Given the description of an element on the screen output the (x, y) to click on. 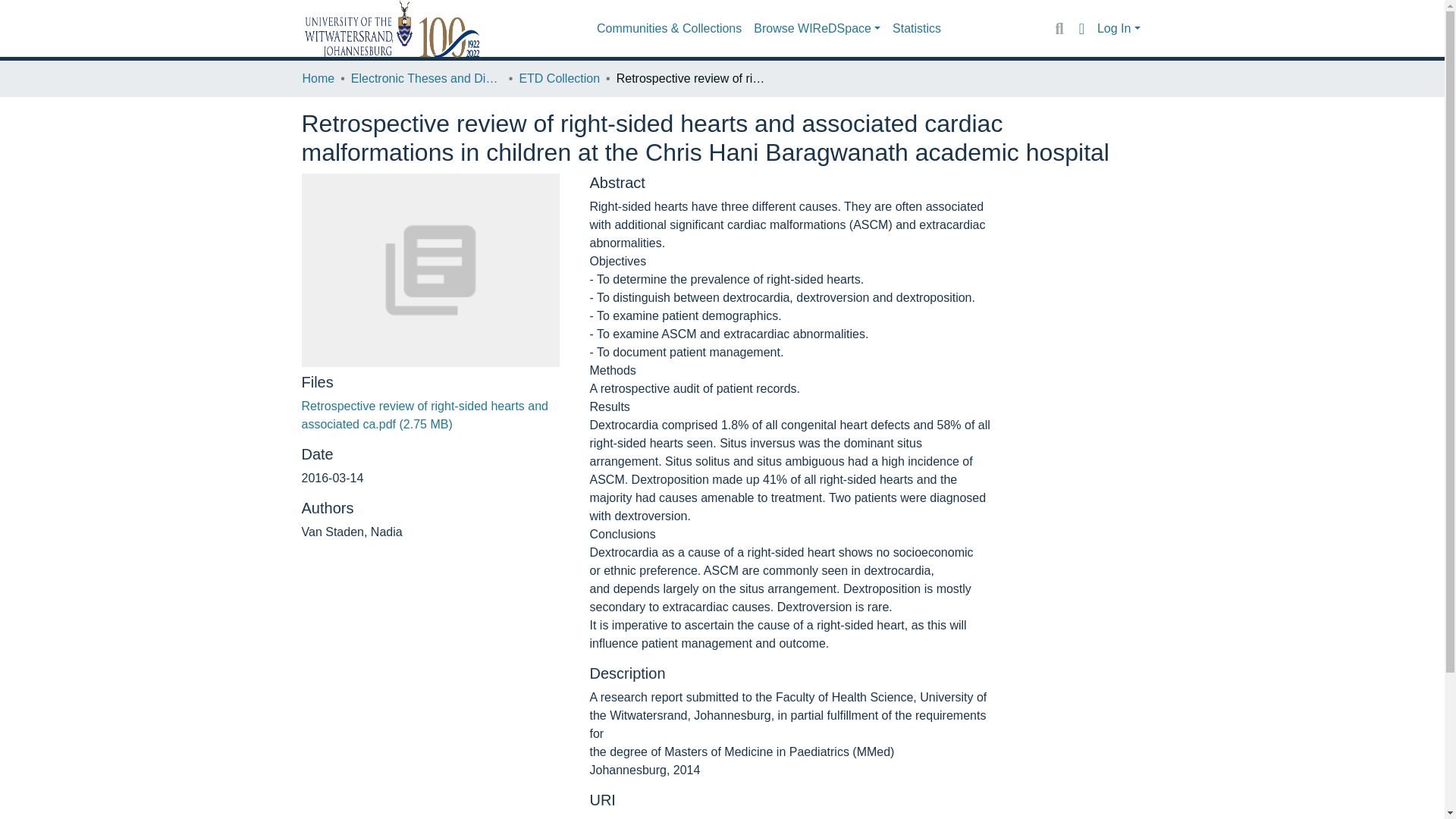
ETD Collection (558, 78)
Browse WIReDSpace (817, 28)
Statistics (916, 28)
Home (317, 78)
Language switch (1081, 28)
Log In (1118, 28)
Statistics (916, 28)
Search (1058, 28)
